Given the description of an element on the screen output the (x, y) to click on. 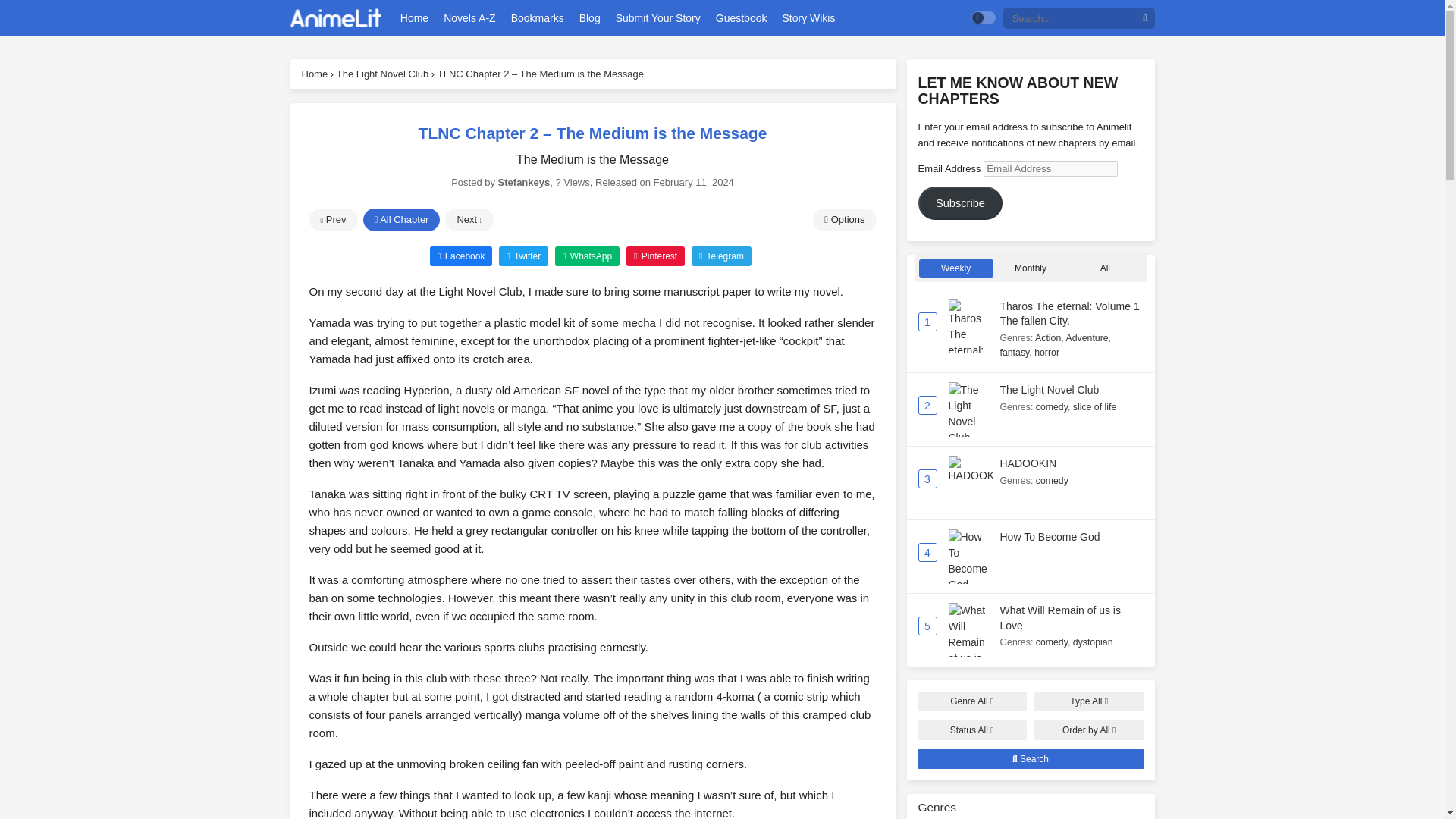
Guestbook (741, 18)
HADOOKIN (969, 469)
Submit Your Story (657, 18)
Action (1048, 337)
Home (414, 18)
Novels A-Z (469, 18)
slice of life (1094, 407)
Adventure (1086, 337)
Bookmarks (536, 18)
The Light Novel Club (1048, 389)
The Light Novel Club (382, 73)
Telegram (721, 255)
Animelit - An Otaku Circle's Free Novel Site (334, 17)
Story Wikis (807, 18)
Facebook (460, 255)
